Given the description of an element on the screen output the (x, y) to click on. 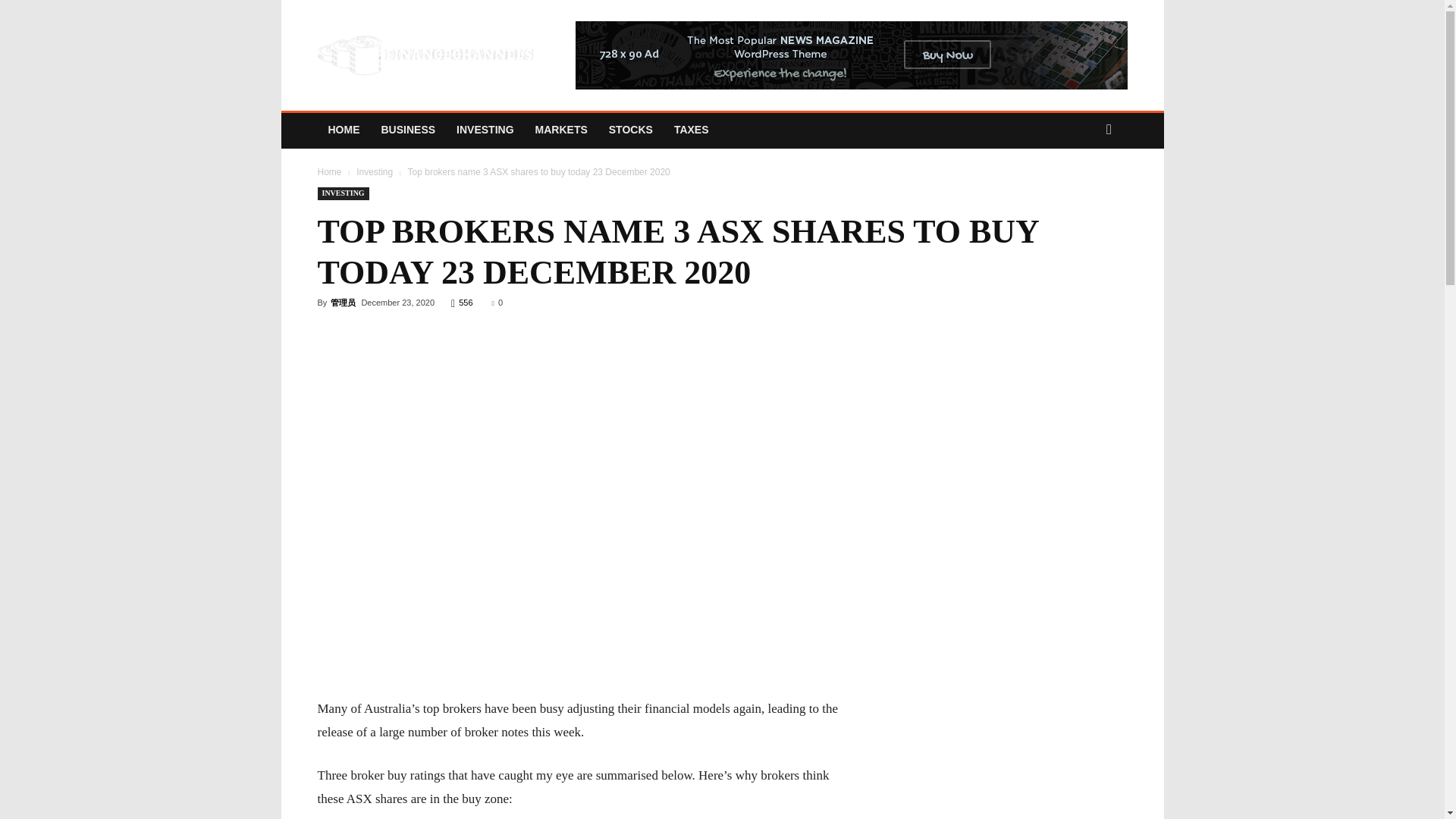
STOCKS (630, 129)
BUSINESS (407, 129)
View all posts in Investing (374, 172)
INVESTING (484, 129)
HOME (343, 129)
TAXES (691, 129)
MARKETS (561, 129)
